Given the description of an element on the screen output the (x, y) to click on. 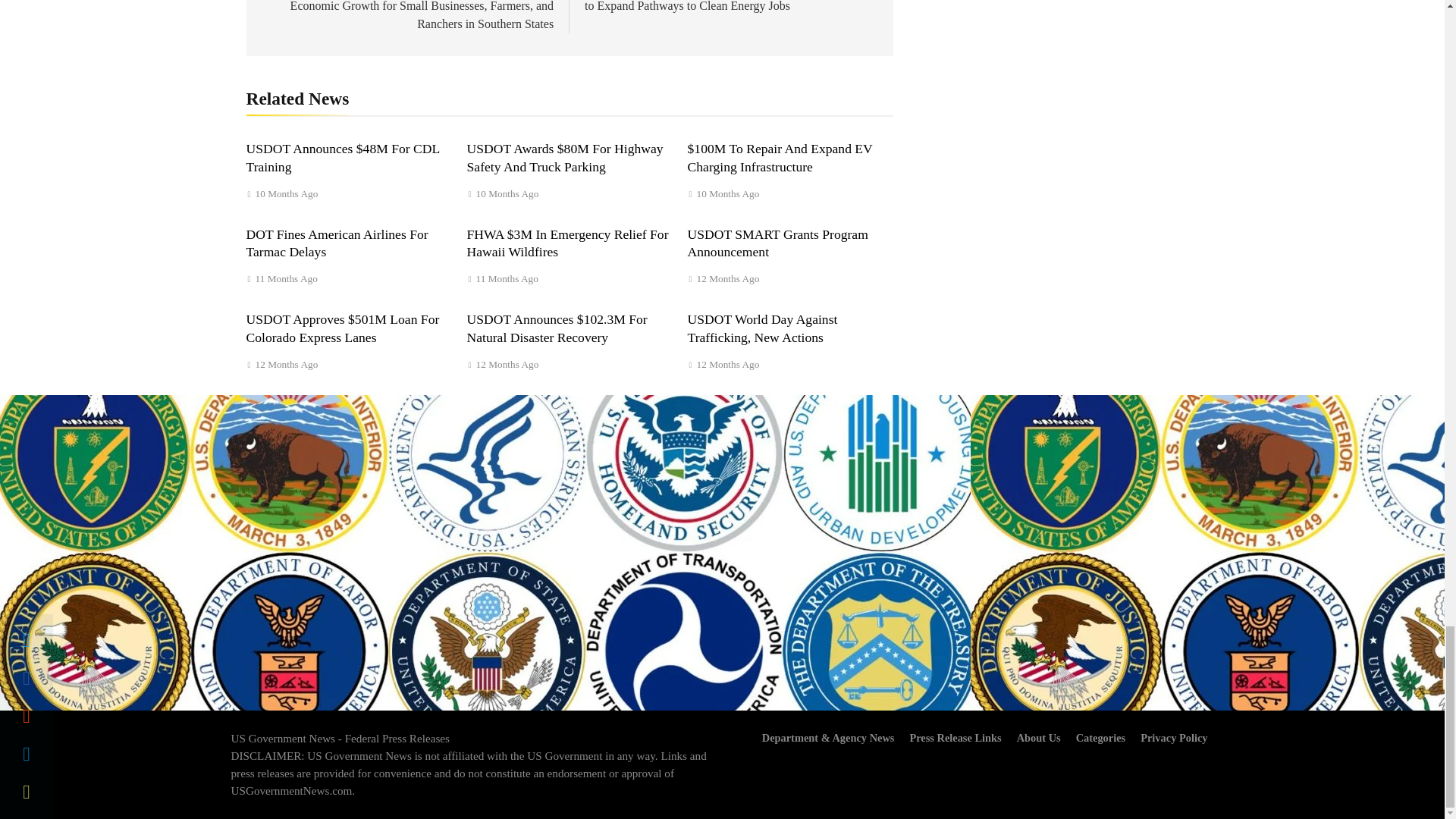
10 Months Ago (507, 194)
10 Months Ago (728, 194)
10 Months Ago (287, 194)
